Given the description of an element on the screen output the (x, y) to click on. 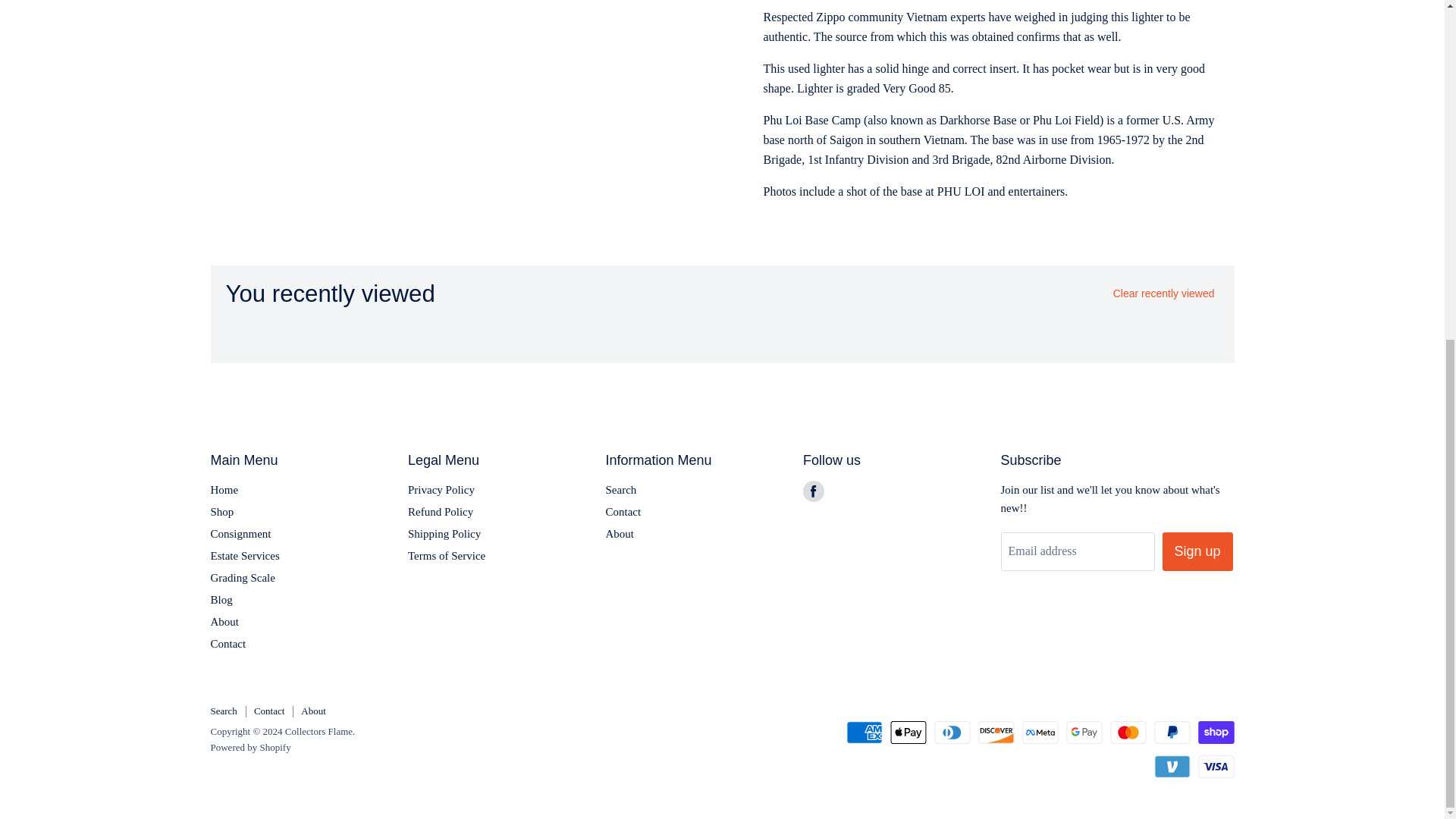
PayPal (1172, 732)
Meta Pay (1040, 732)
Shop Pay (1216, 732)
Discover (996, 732)
Apple Pay (907, 732)
American Express (863, 732)
Mastercard (1128, 732)
Diners Club (952, 732)
Facebook (813, 491)
Google Pay (1083, 732)
